Given the description of an element on the screen output the (x, y) to click on. 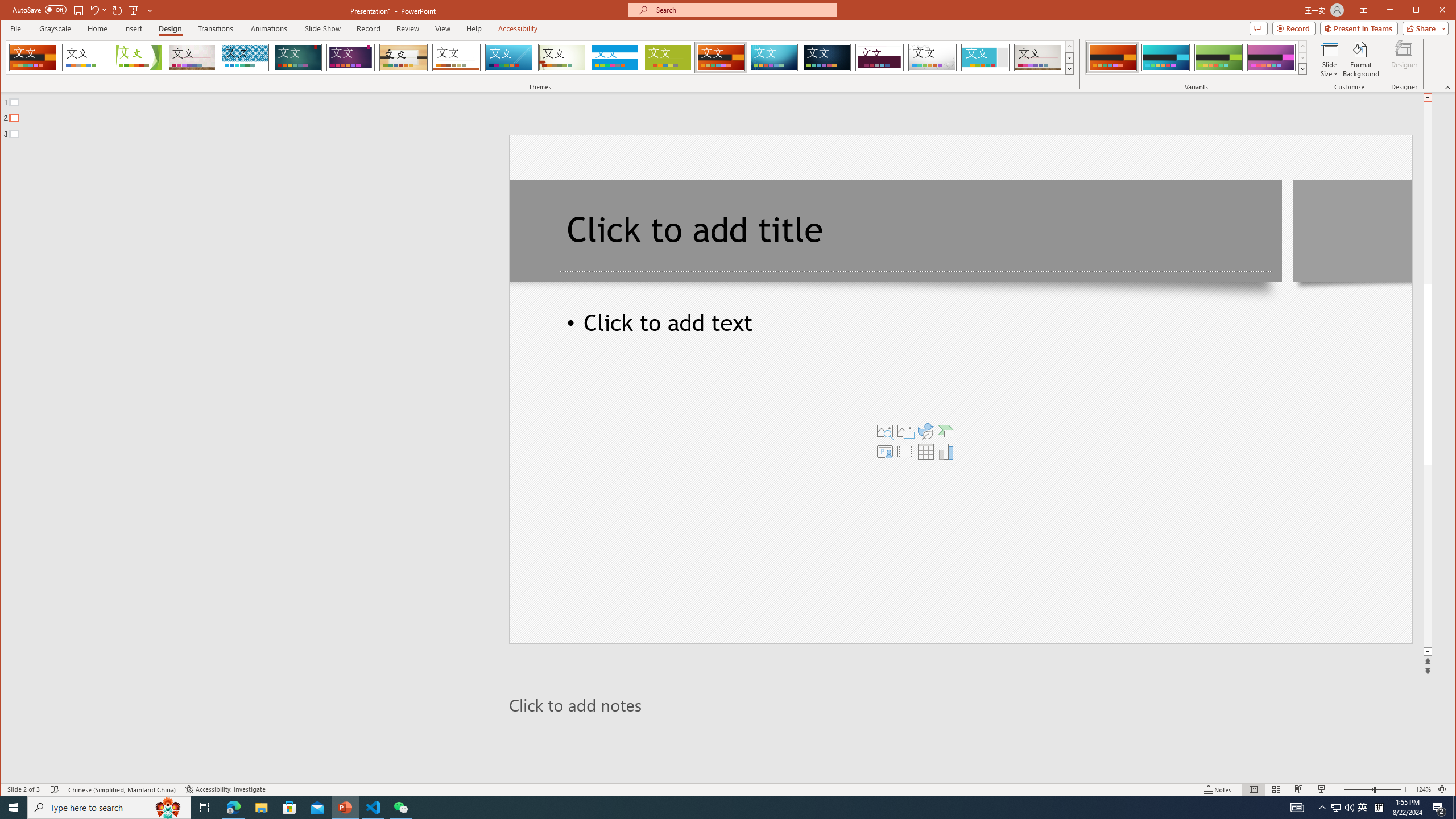
Berlin Variant 2 (1165, 57)
Ion Boardroom (350, 57)
